Given the description of an element on the screen output the (x, y) to click on. 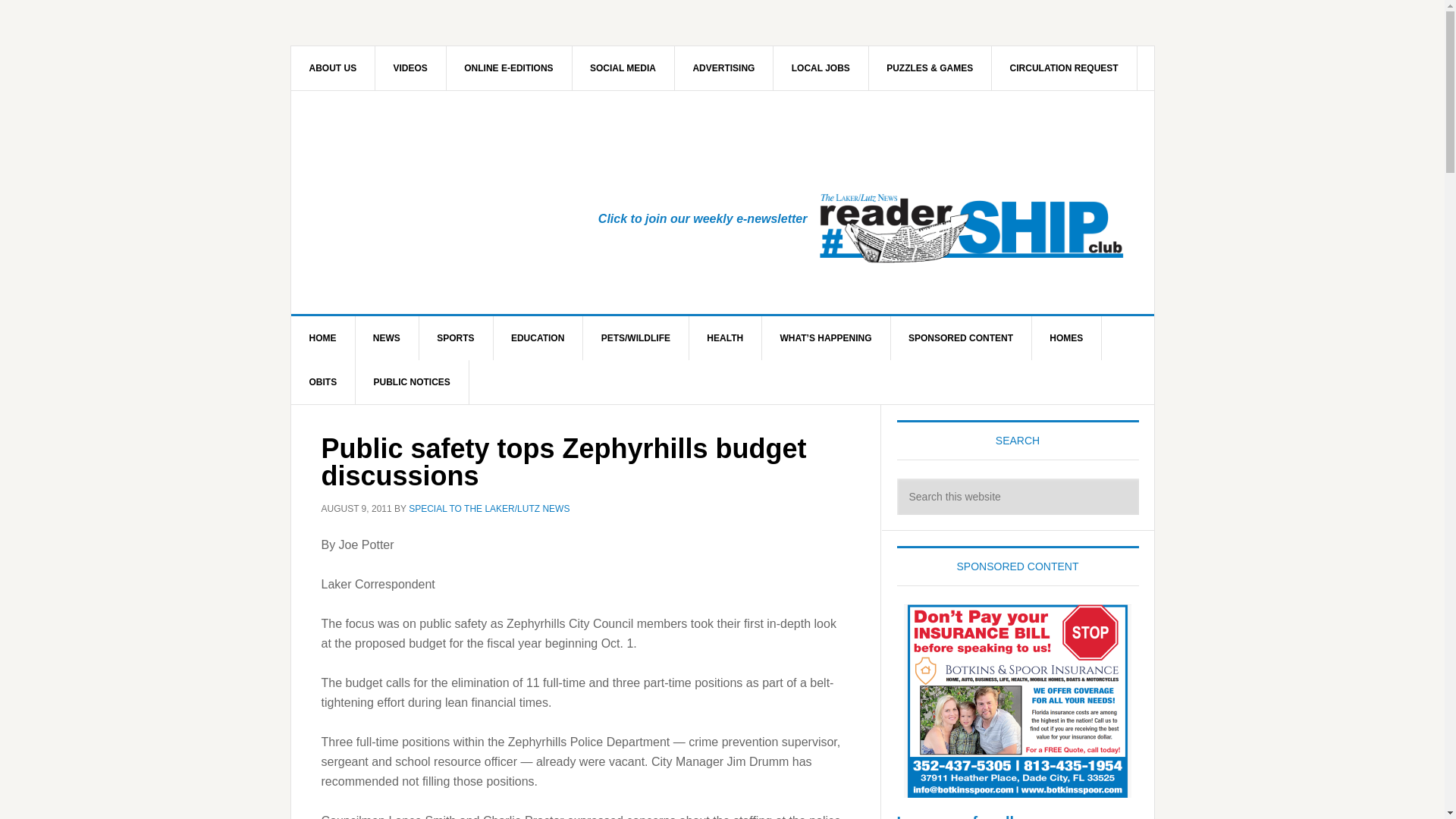
SOCIAL MEDIA (623, 67)
Click to join our weekly e-newsletter (703, 218)
CIRCULATION REQUEST (1064, 67)
ADVERTISING (723, 67)
ONLINE E-EDITIONS (508, 67)
ABOUT US (333, 67)
NEWS (387, 338)
HOME (323, 338)
VIDEOS (410, 67)
